Given the description of an element on the screen output the (x, y) to click on. 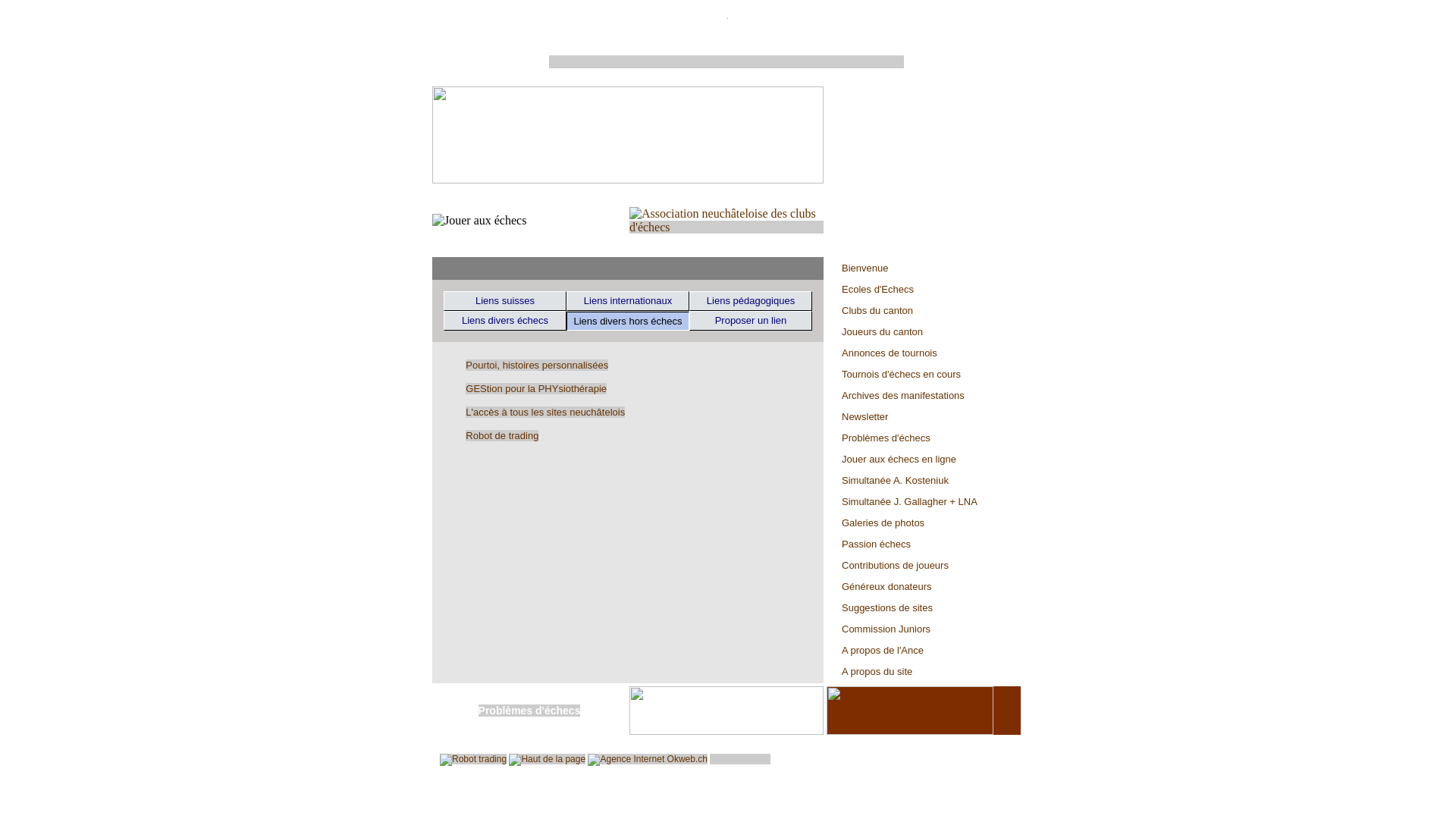
Robot de trading Element type: text (501, 435)
Newsletter Element type: text (923, 415)
Contributions de joueurs Element type: text (923, 564)
Commission Juniors Element type: text (923, 628)
Agence Internet Okweb.ch Element type: hover (646, 759)
Liens suisses Element type: text (504, 300)
WebAnalytics Element type: hover (739, 758)
A propos du site Element type: text (923, 670)
Bienvenue Element type: text (923, 267)
Joueurs du canton Element type: text (923, 331)
Ecoles d'Echecs Element type: text (923, 288)
Clubs du canton Element type: text (923, 309)
Proposer un lien Element type: text (750, 320)
Archives des manifestations Element type: text (923, 394)
Annonces de tournois Element type: text (923, 352)
Liens internationaux Element type: text (627, 300)
. Element type: text (727, 16)
Internet Audience Element type: hover (739, 756)
A propos de l'Ance Element type: text (923, 649)
Galeries de photos Element type: text (923, 522)
